Given the description of an element on the screen output the (x, y) to click on. 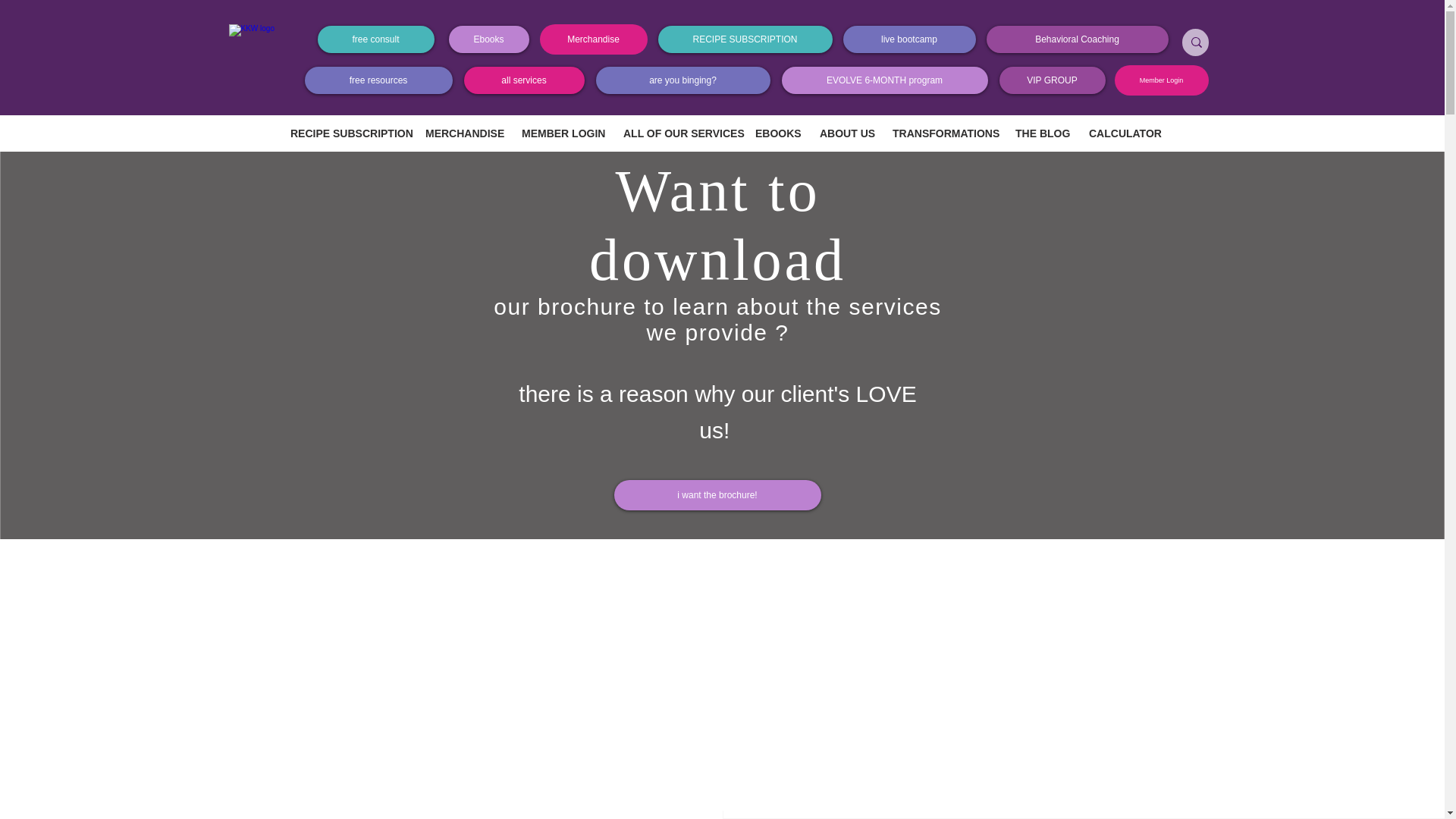
RECIPE SUBSCRIPTION (345, 133)
all services (524, 80)
Member Login (1161, 80)
MEMBER LOGIN (560, 133)
Merchandise (593, 39)
External YouTube (722, 668)
RECIPE SUBSCRIPTION (745, 39)
ABOUT US (844, 133)
Ebooks (488, 39)
MERCHANDISE (461, 133)
TRANSFORMATIONS (941, 133)
EBOOKS (775, 133)
Behavioral Coaching (1076, 39)
live bootcamp (909, 39)
free consult (375, 39)
